Given the description of an element on the screen output the (x, y) to click on. 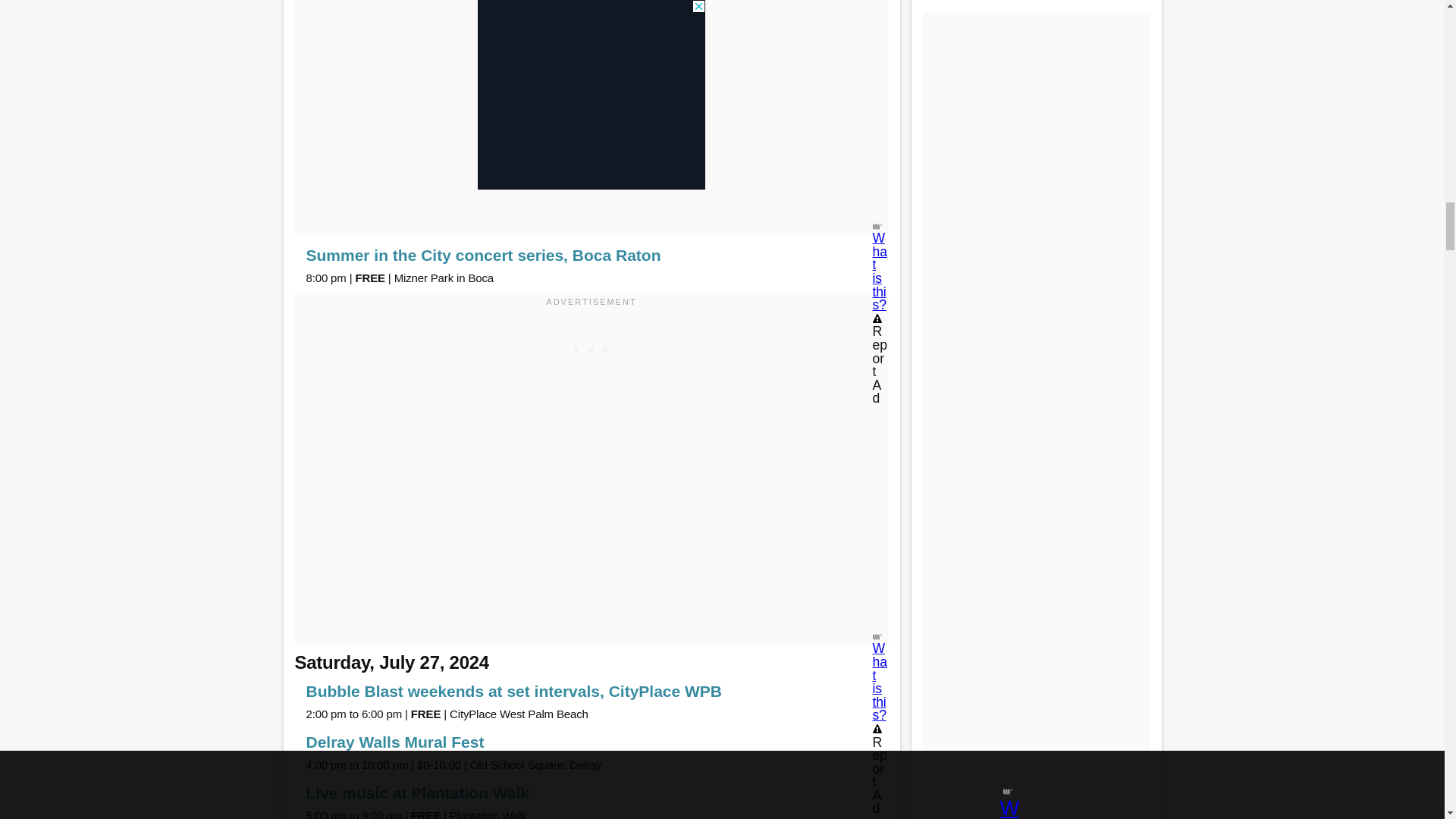
3rd party ad content (591, 346)
3rd party ad content (590, 45)
